Given the description of an element on the screen output the (x, y) to click on. 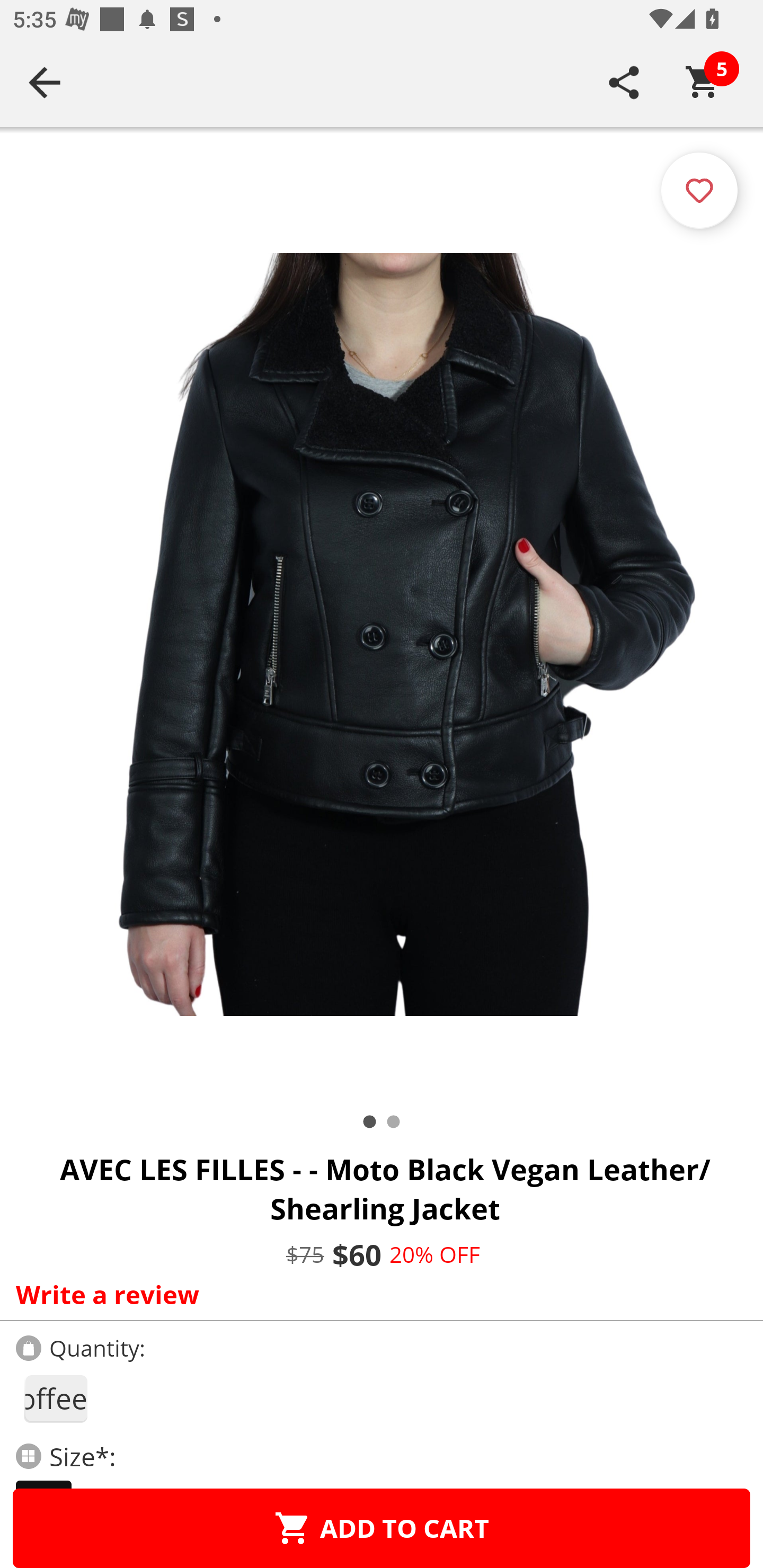
Navigate up (44, 82)
SHARE (623, 82)
Cart (703, 81)
Write a review (377, 1294)
1coffee (55, 1398)
ADD TO CART (381, 1528)
